Given the description of an element on the screen output the (x, y) to click on. 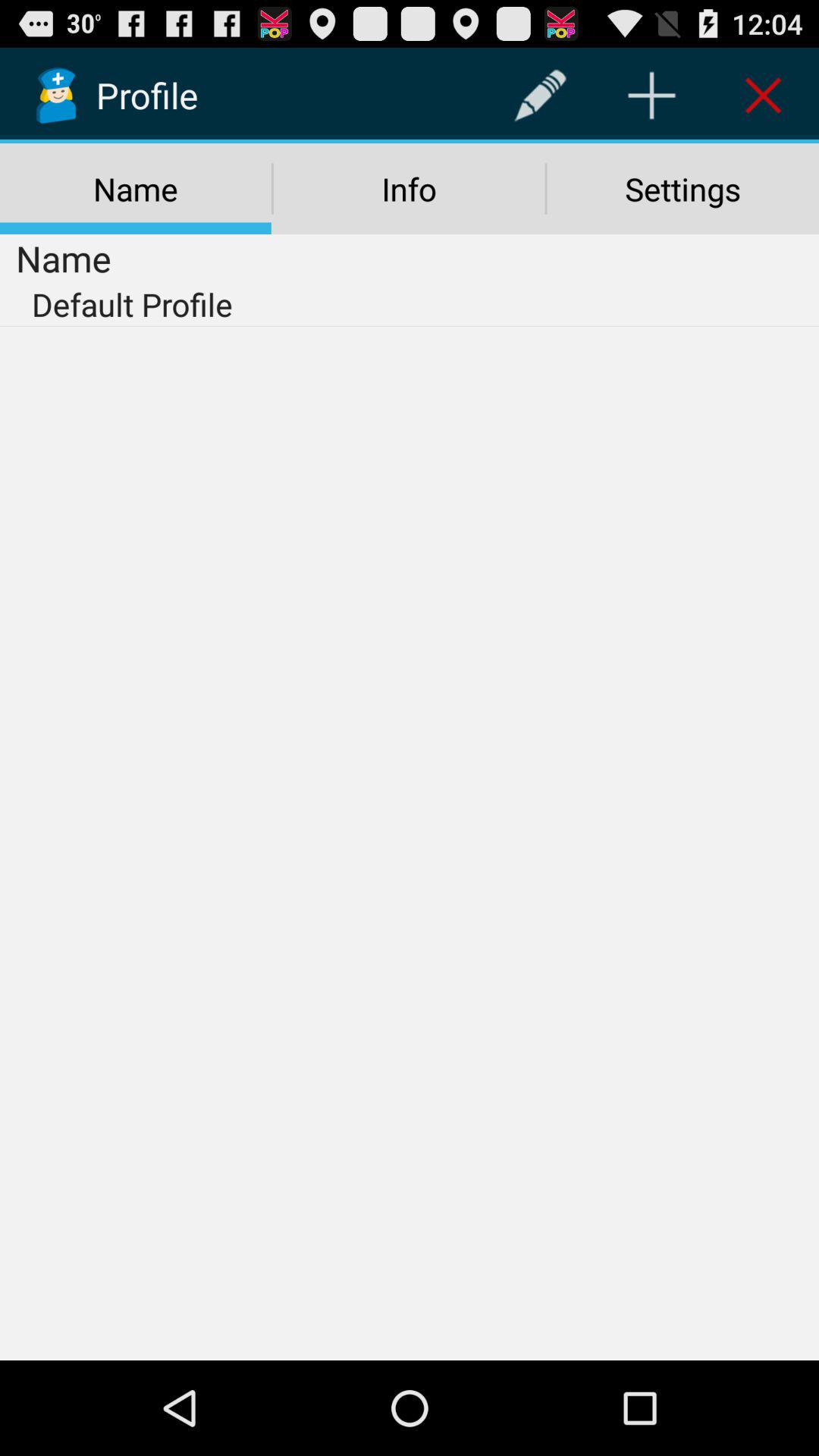
turn on item to the right of name icon (540, 95)
